Given the description of an element on the screen output the (x, y) to click on. 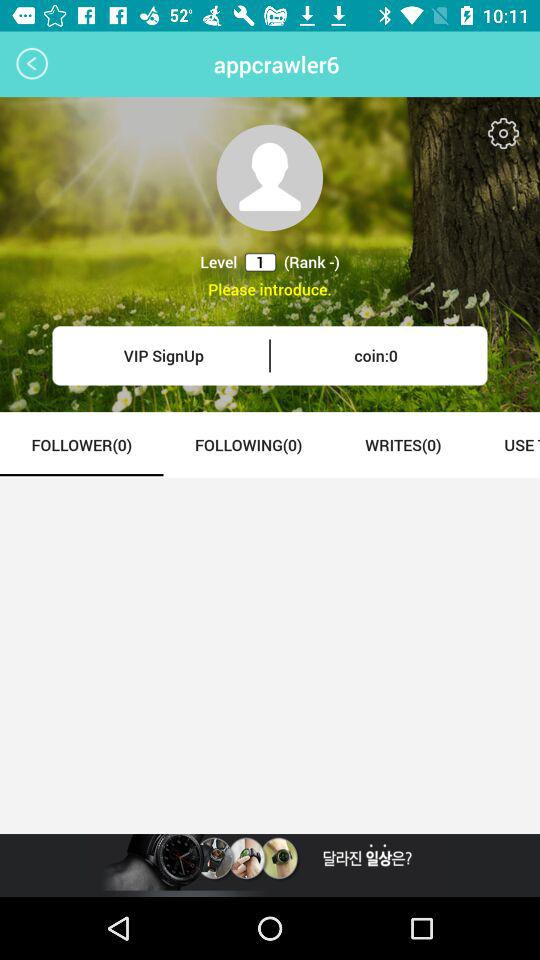
flip to following(0) item (248, 444)
